Given the description of an element on the screen output the (x, y) to click on. 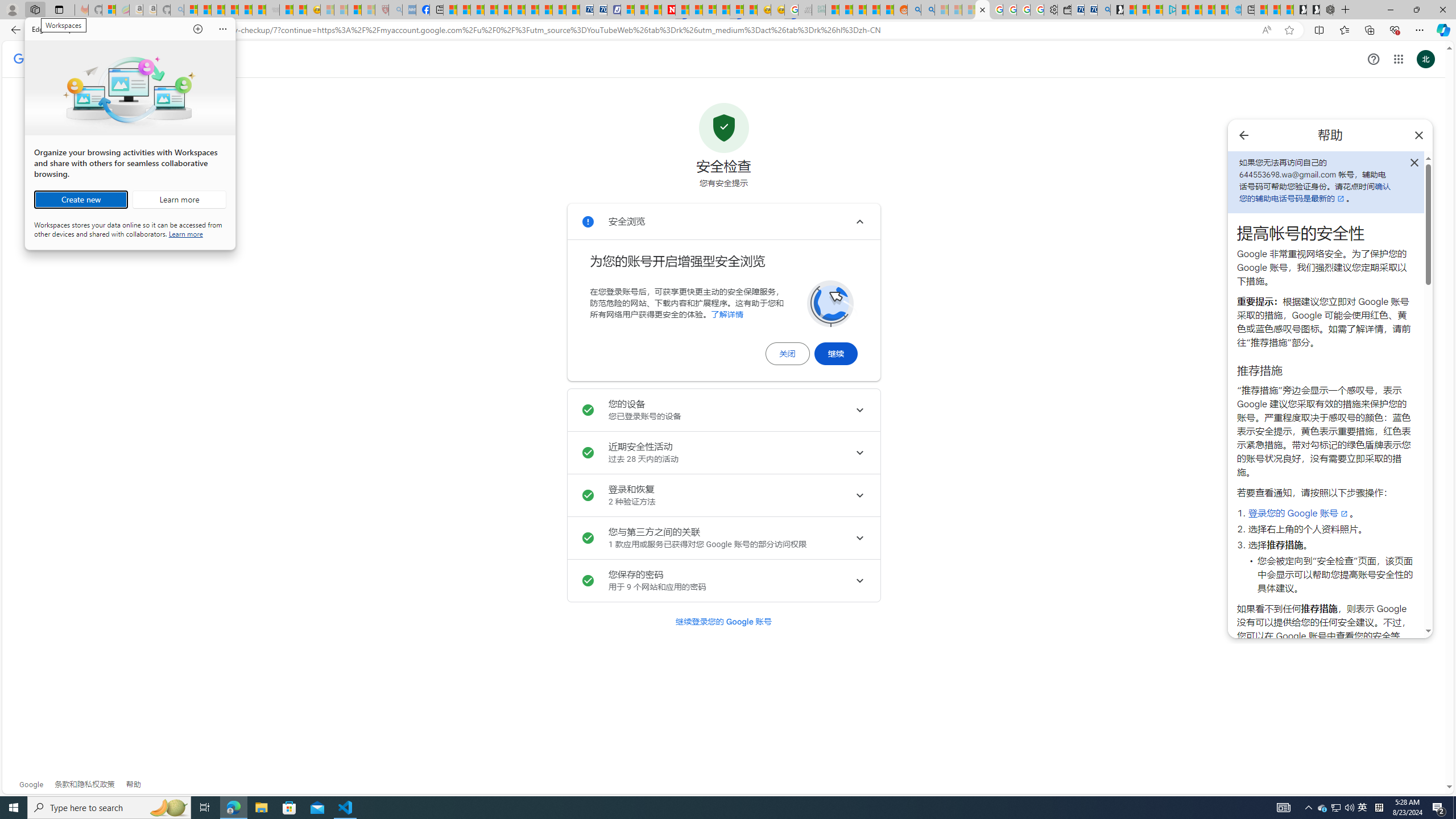
Wallet (1063, 9)
Create new workspace (80, 199)
Type here to search (108, 807)
14 Common Myths Debunked By Scientific Facts (695, 9)
Bing Real Estate - Home sales and rental listings (1103, 9)
Tray Input Indicator - Chinese (Simplified, China) (1335, 807)
